Given the description of an element on the screen output the (x, y) to click on. 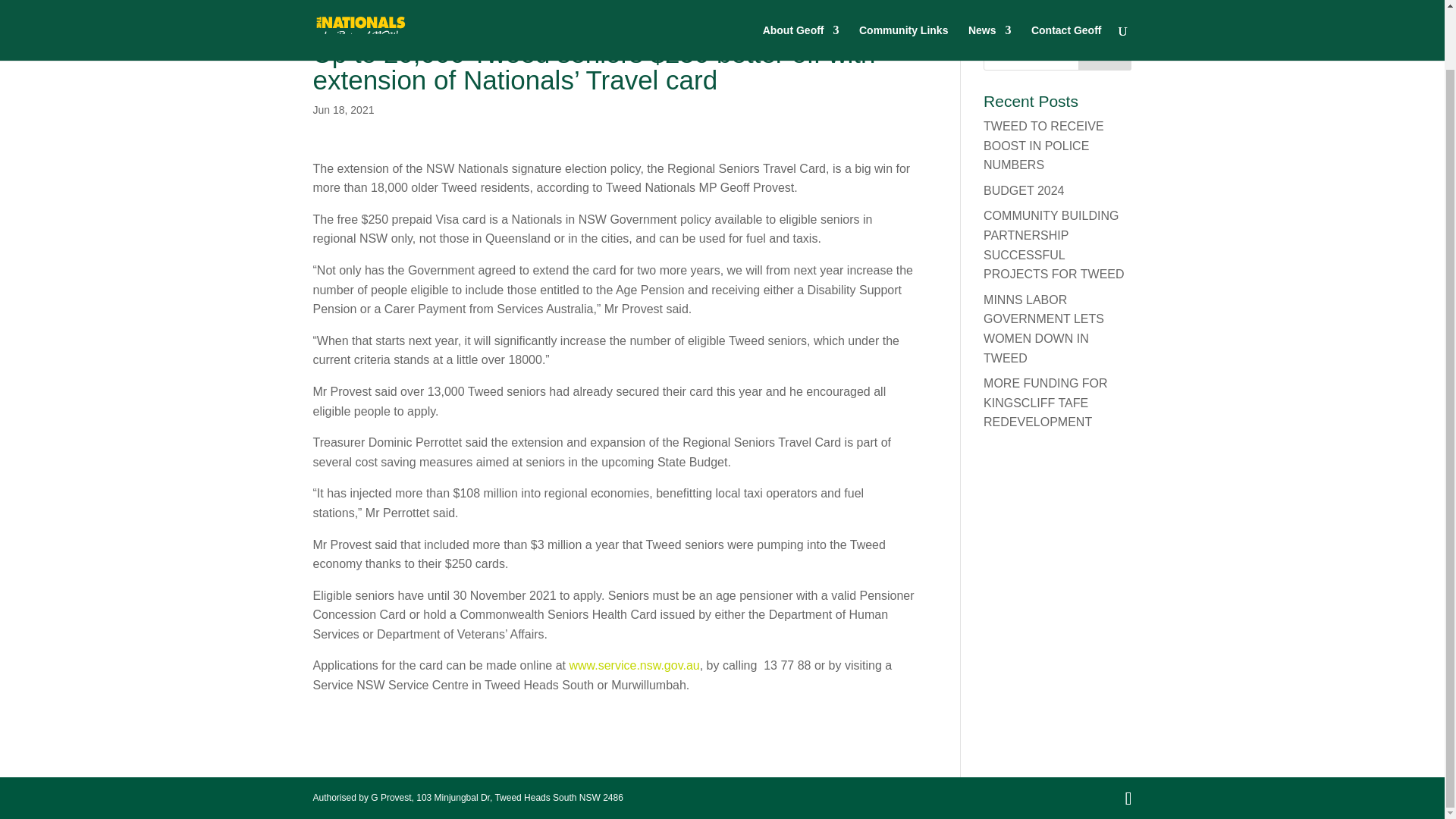
MORE FUNDING FOR KINGSCLIFF TAFE REDEVELOPMENT (1046, 402)
TWEED TO RECEIVE BOOST IN POLICE NUMBERS (1043, 145)
COMMUNITY BUILDING PARTNERSHIP SUCCESSFUL PROJECTS FOR TWEED (1054, 244)
Search (1104, 55)
MINNS LABOR GOVERNMENT LETS WOMEN DOWN IN TWEED (1043, 328)
Search (1104, 55)
BUDGET 2024 (1024, 190)
www.service.nsw.gov.au (633, 665)
